Given the description of an element on the screen output the (x, y) to click on. 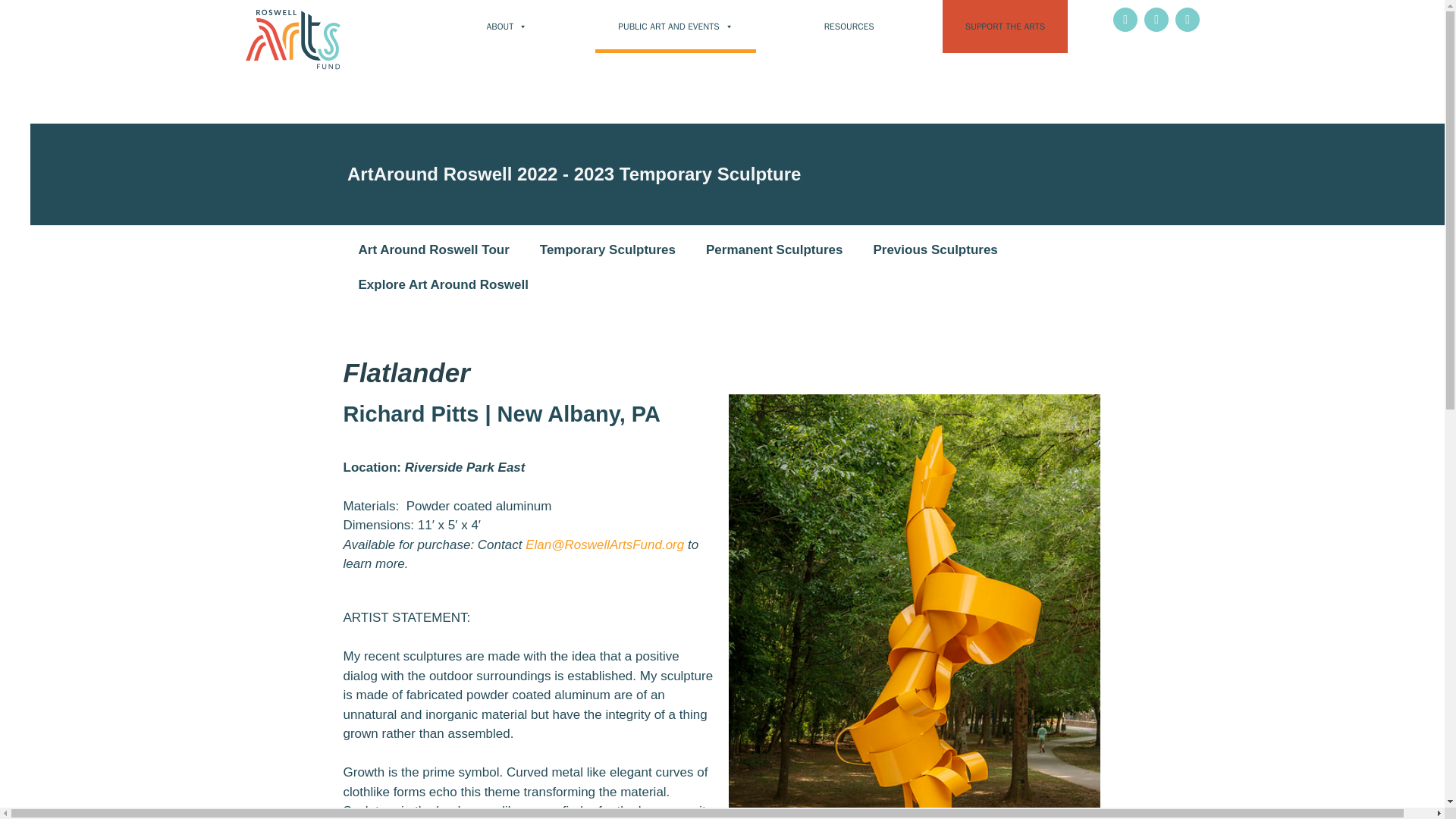
Art Around Roswell Tour (433, 249)
PUBLIC ART AND EVENTS (675, 26)
Temporary Sculptures (607, 249)
ABOUT (507, 26)
Permanent Sculptures (773, 249)
RESOURCES (849, 26)
SUPPORT THE ARTS (1004, 26)
